Given the description of an element on the screen output the (x, y) to click on. 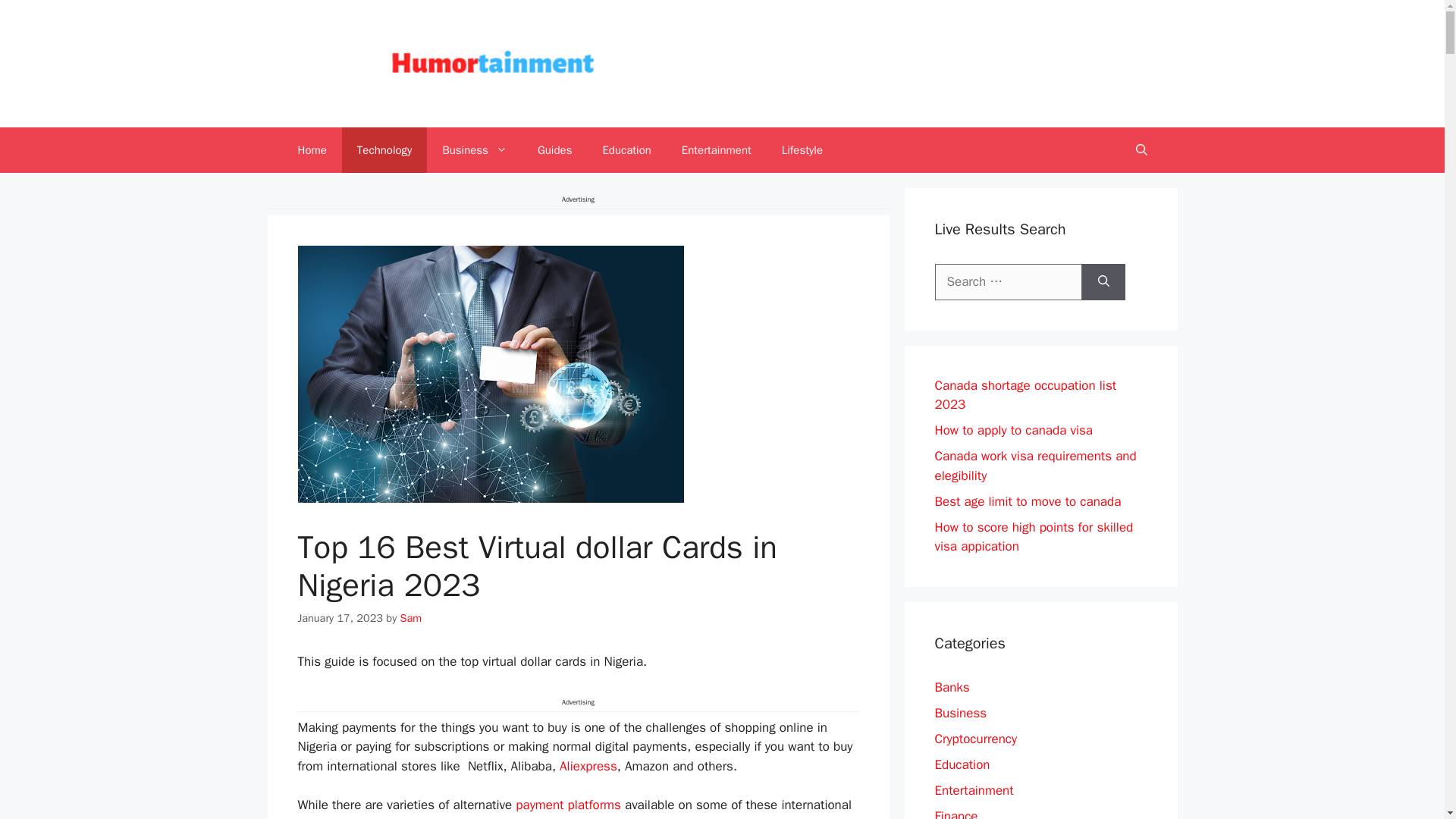
Aliexpress (588, 765)
Guides (555, 149)
Lifestyle (802, 149)
payment platforms (568, 804)
Sam (411, 617)
Technology (385, 149)
View all posts by Sam (411, 617)
Education (625, 149)
Business (474, 149)
Entertainment (716, 149)
Home (311, 149)
